Given the description of an element on the screen output the (x, y) to click on. 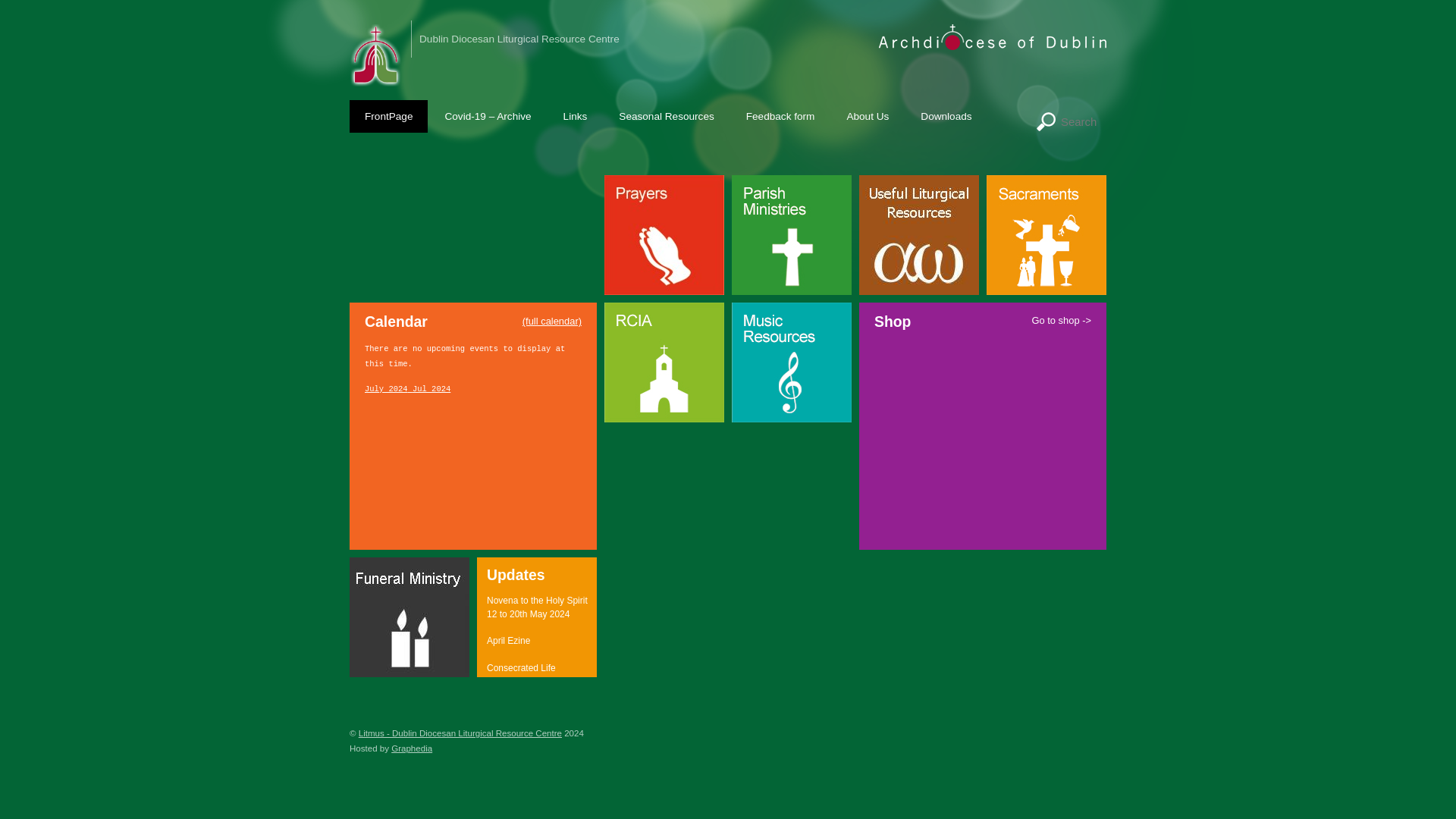
About Us (867, 115)
Links (575, 115)
Feedback form (779, 115)
Litmus - Dublin Diocesan Liturgical Resource Centre (376, 77)
Calendar (551, 321)
Sacraments (1046, 286)
Choose a date using calendar (407, 388)
Seasonal Resources (666, 115)
Prayers (663, 286)
RCIA (663, 414)
Funeral Ministry (408, 668)
